Given the description of an element on the screen output the (x, y) to click on. 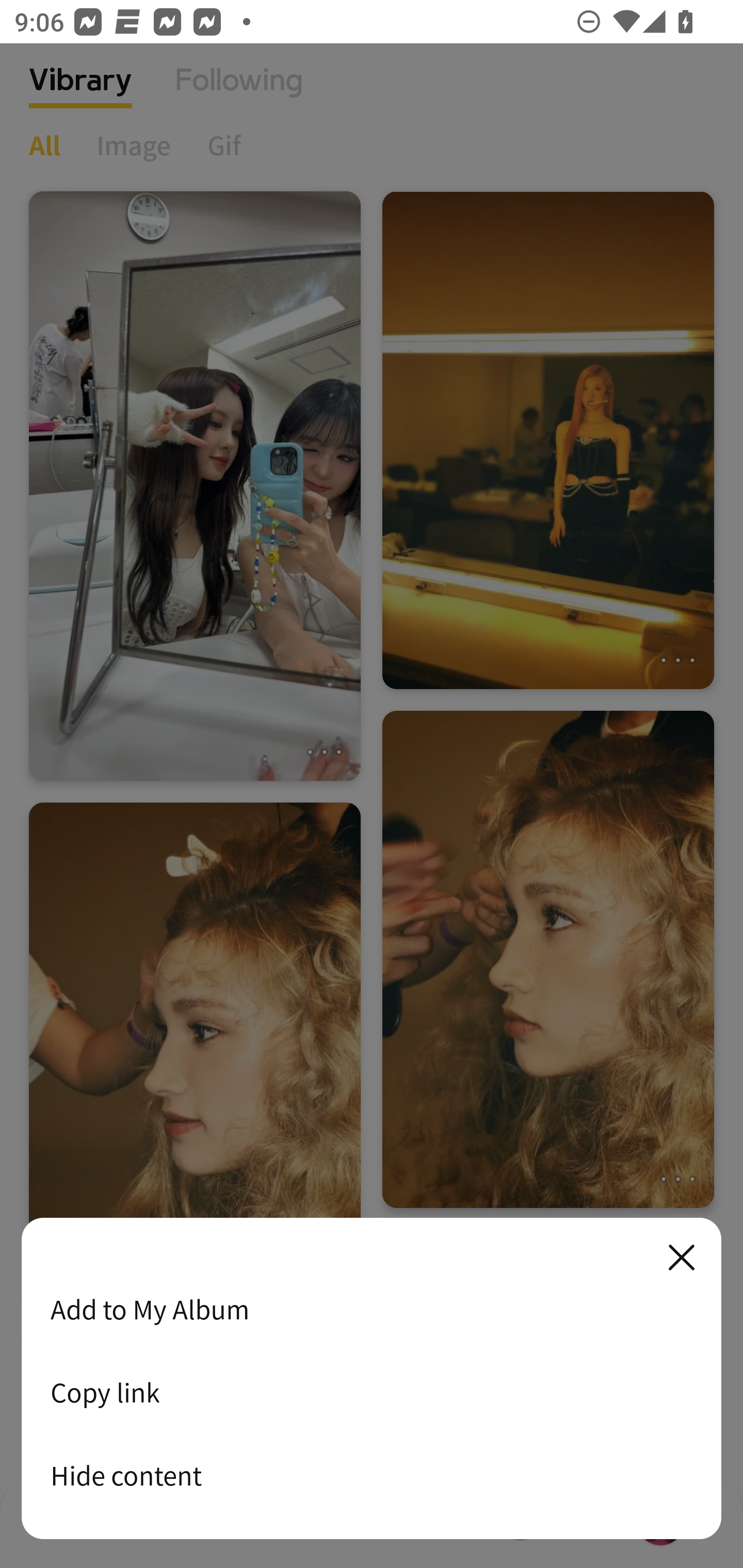
Add to My Album Copy link Hide content (371, 1378)
Add to My Album (371, 1308)
Copy link (371, 1391)
Hide content (371, 1474)
